Given the description of an element on the screen output the (x, y) to click on. 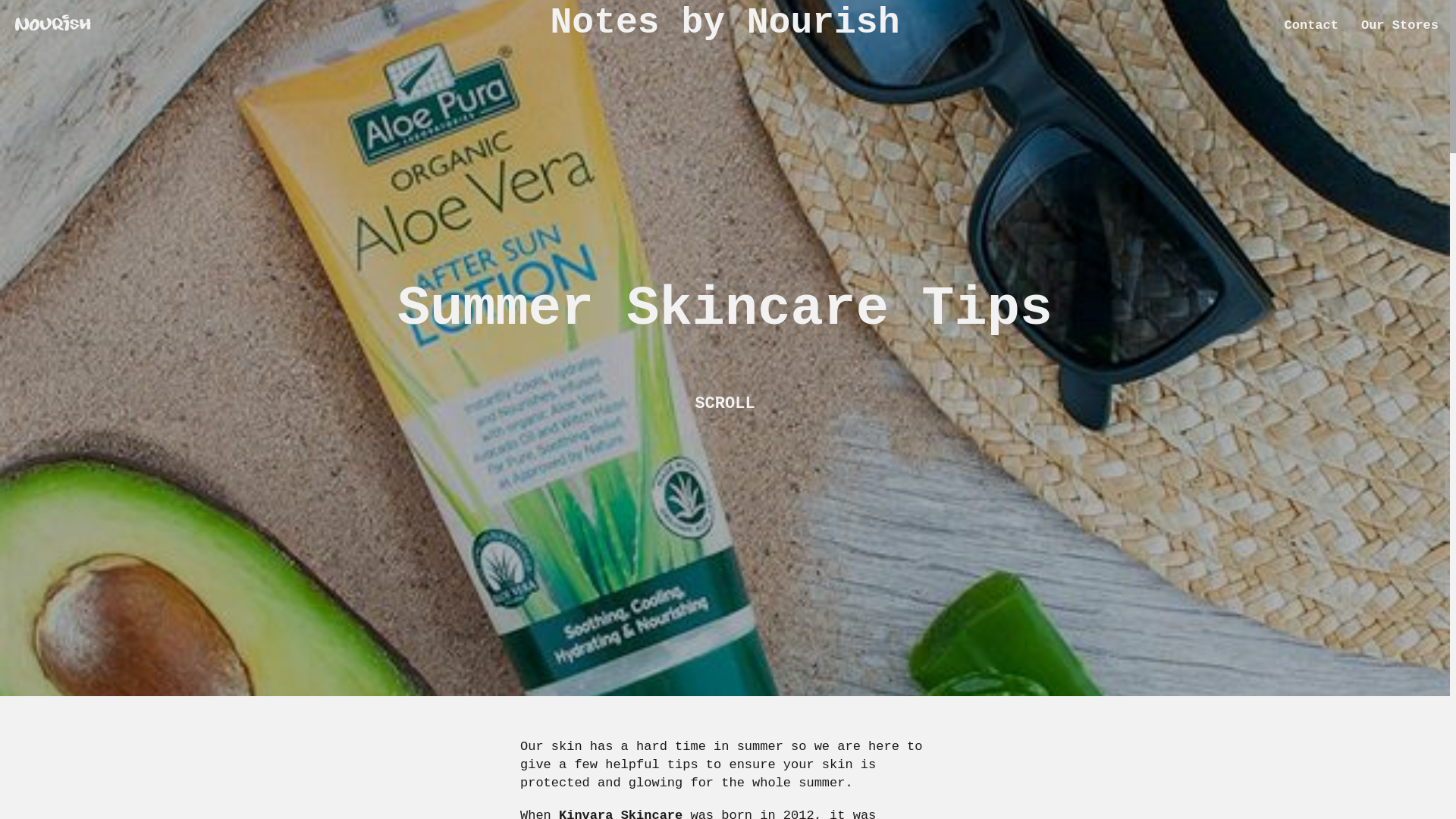
SCROLL (724, 403)
nourish-logo-white (53, 22)
Contact (1310, 24)
nourish-logo-white (53, 25)
Notes by Nourish (724, 30)
Kinvara Skincare (620, 813)
